Given the description of an element on the screen output the (x, y) to click on. 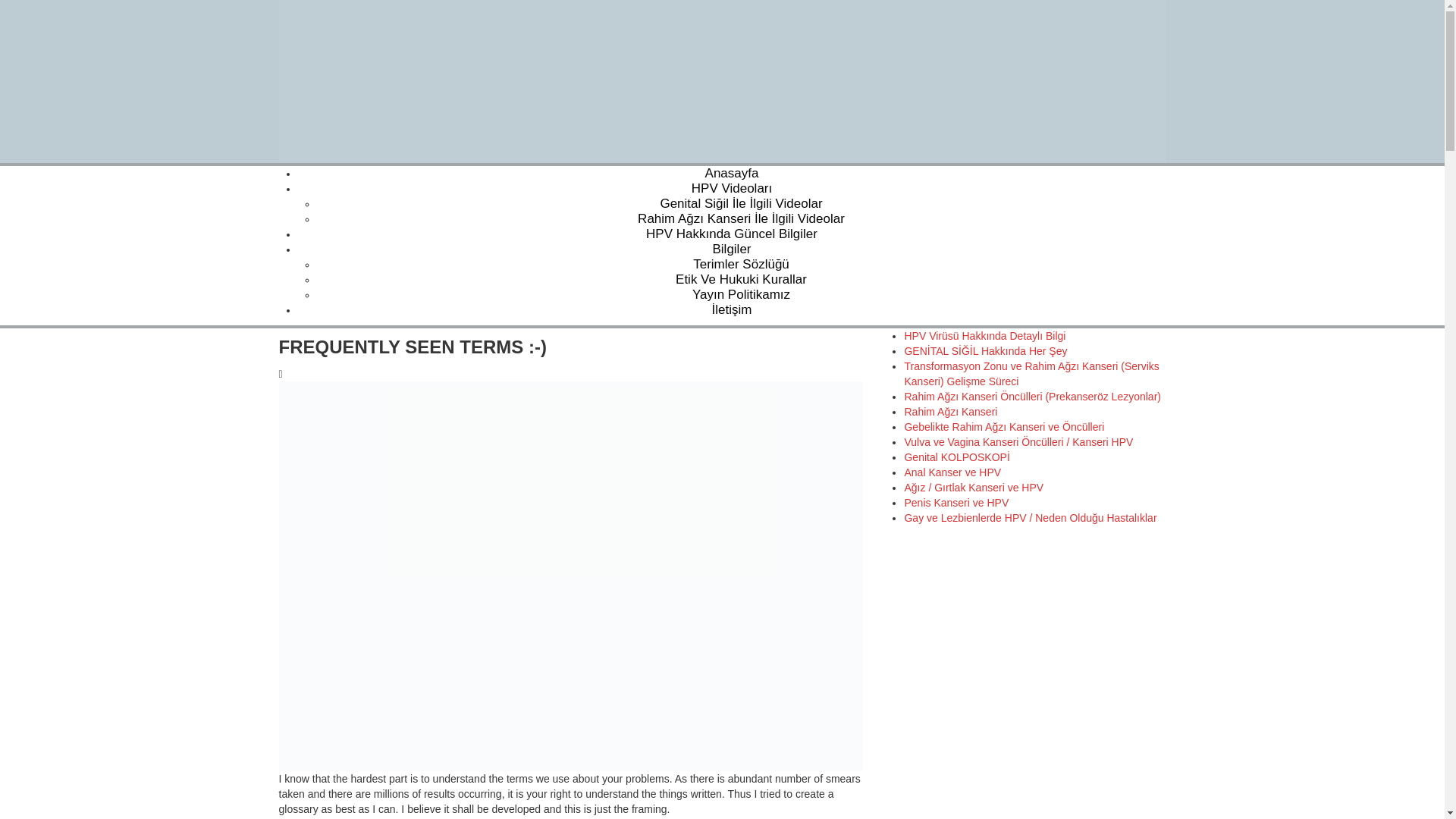
Anasayfa (731, 173)
Bilgiler (731, 248)
Etik Ve Hukuki Kurallar (740, 278)
standard (571, 373)
HPV.com.tr (722, 80)
